Given the description of an element on the screen output the (x, y) to click on. 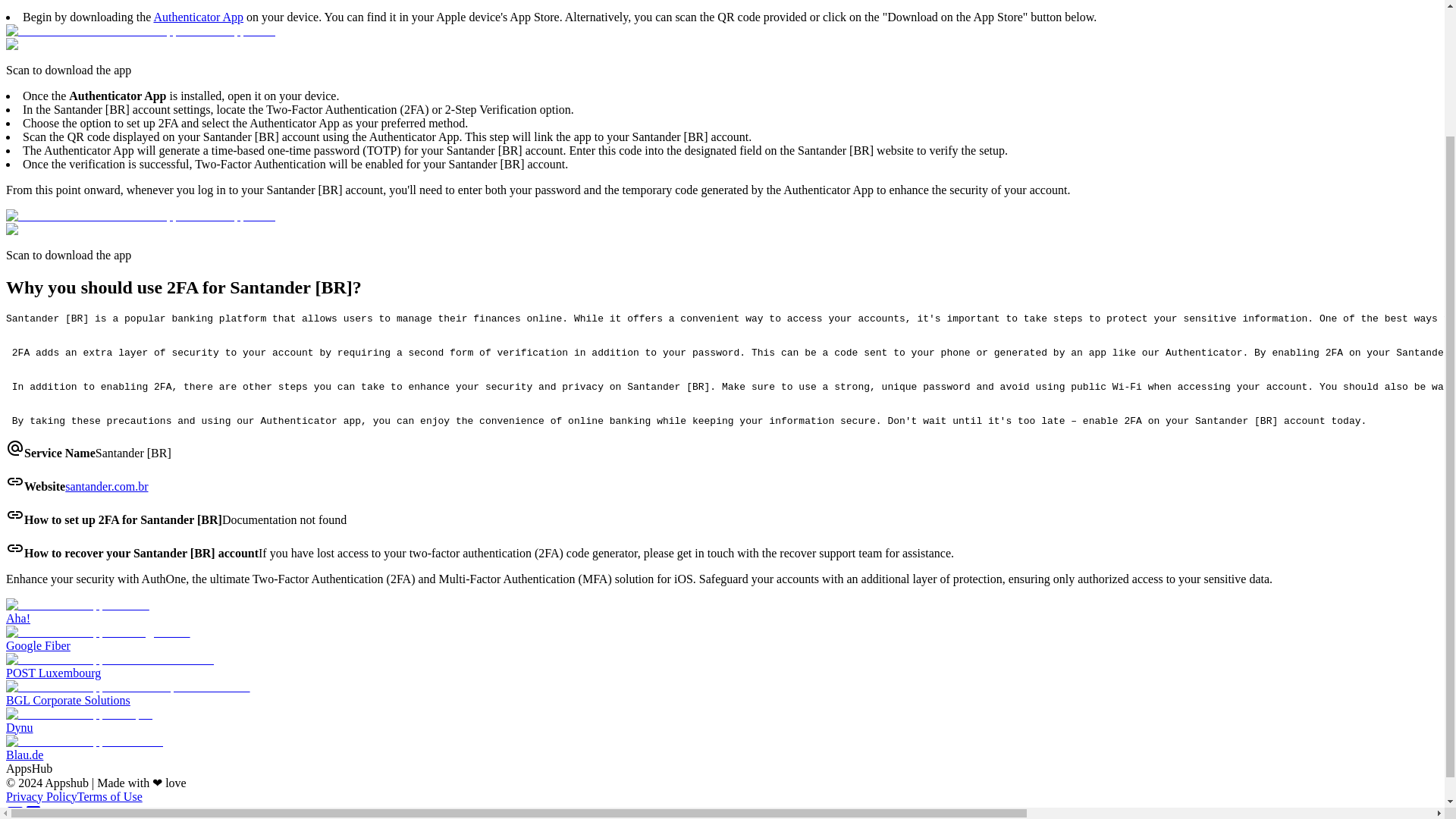
santander.com.br (106, 486)
Google Fiber (721, 638)
BGL Corporate Solutions (721, 693)
Blau.de (721, 748)
POST Luxembourg (721, 666)
Authenticator App (197, 16)
Privacy Policy (41, 796)
Dynu (721, 720)
Aha! (721, 611)
Terms of Use (109, 796)
